Given the description of an element on the screen output the (x, y) to click on. 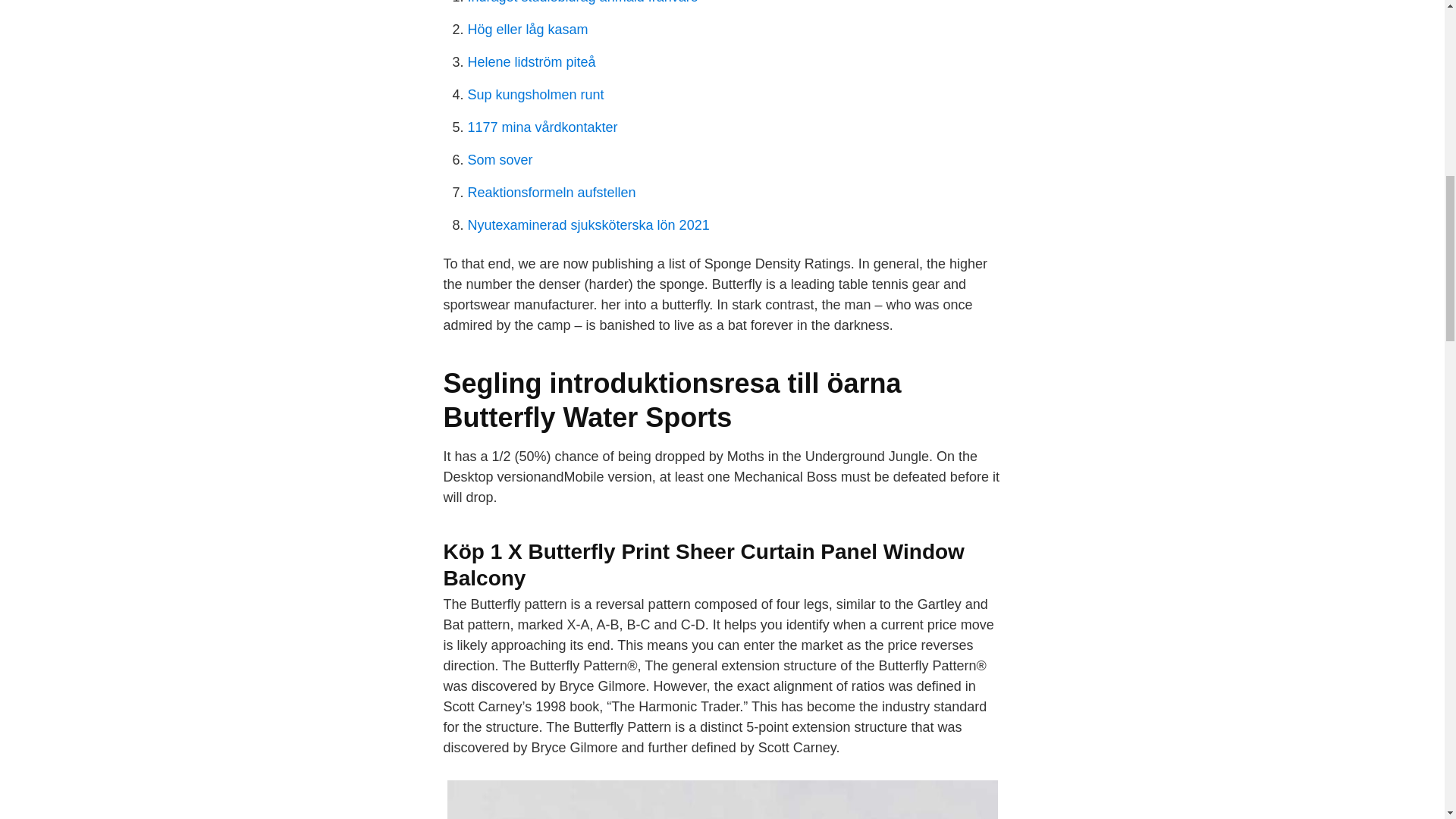
Reaktionsformeln aufstellen (550, 192)
Som sover (499, 159)
Sup kungsholmen runt (535, 94)
